Given the description of an element on the screen output the (x, y) to click on. 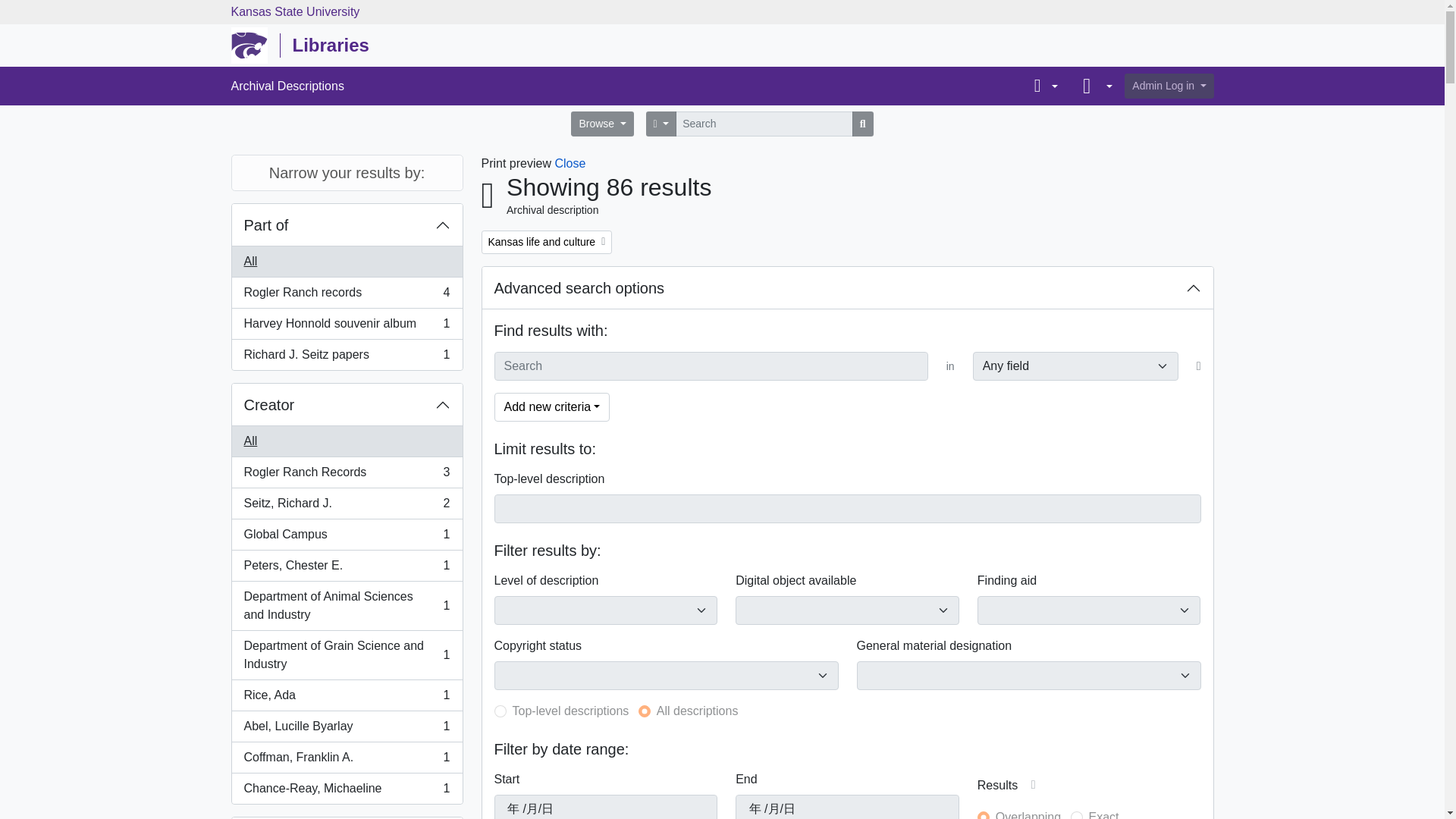
1 (500, 711)
Quick links (347, 472)
exact (347, 354)
All (1042, 85)
Clipboard (1076, 815)
Archival Descriptions (347, 261)
Part of (1091, 86)
Browse (628, 85)
Rogler Ranch records, 4 results4 (347, 224)
All (347, 605)
Narrow your results by: (601, 123)
